Given the description of an element on the screen output the (x, y) to click on. 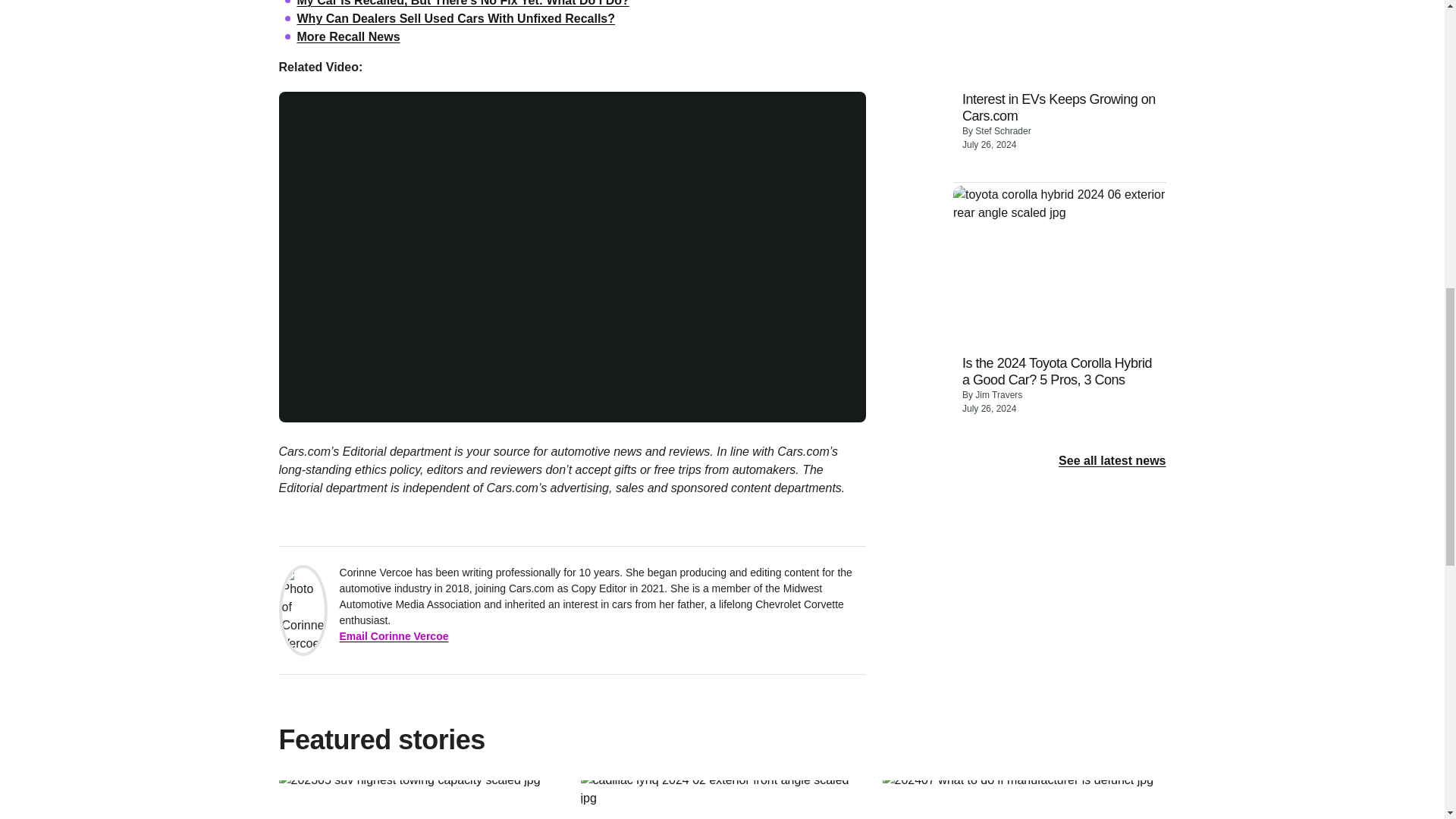
Email Corinne Vercoe (393, 636)
See all latest news (1112, 461)
Why Can Dealers Sell Used Cars With Unfixed Recalls? (456, 18)
More Recall News (348, 36)
Interest in EVs Keeps Growing on Cars.com (1059, 107)
Is the 2024 Toyota Corolla Hybrid a Good Car? 5 Pros, 3 Cons (1059, 371)
